Given the description of an element on the screen output the (x, y) to click on. 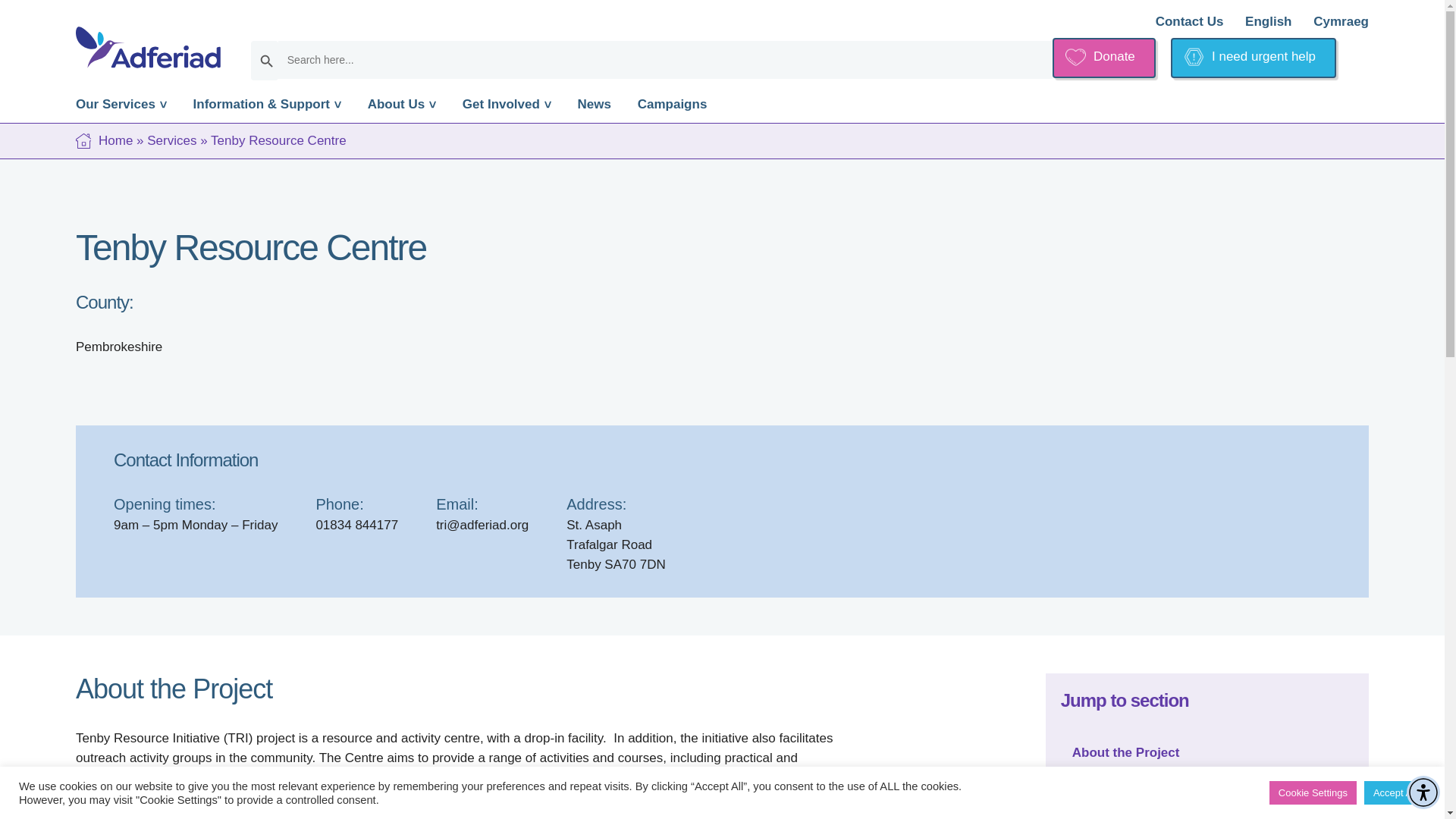
Cymraeg (1340, 21)
English (1267, 21)
Accessibility Menu (1422, 792)
Get Involved (507, 108)
Donate (1104, 57)
About Us (401, 108)
Our Services (121, 108)
Contact Us (1190, 21)
I need urgent help (1253, 57)
